Given the description of an element on the screen output the (x, y) to click on. 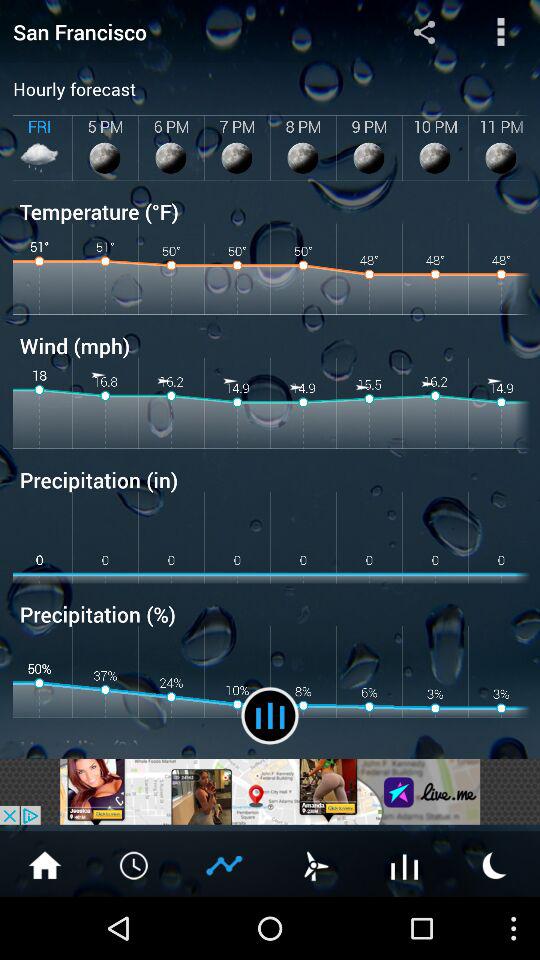
time options (135, 864)
